Given the description of an element on the screen output the (x, y) to click on. 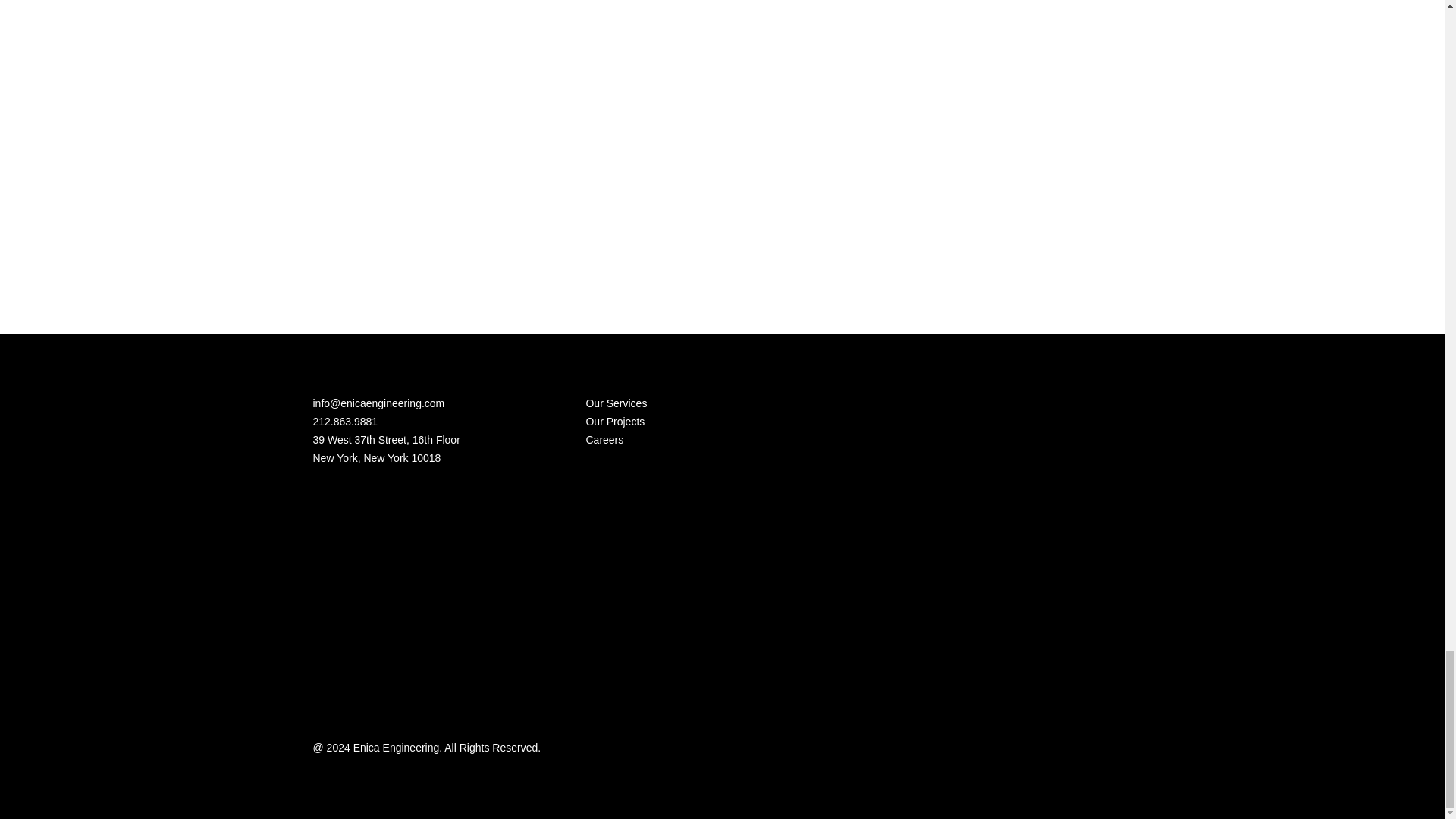
Careers (604, 439)
Contact Us (1087, 244)
Our Services (615, 403)
Our Projects (615, 421)
212.863.9881 (345, 421)
